Given the description of an element on the screen output the (x, y) to click on. 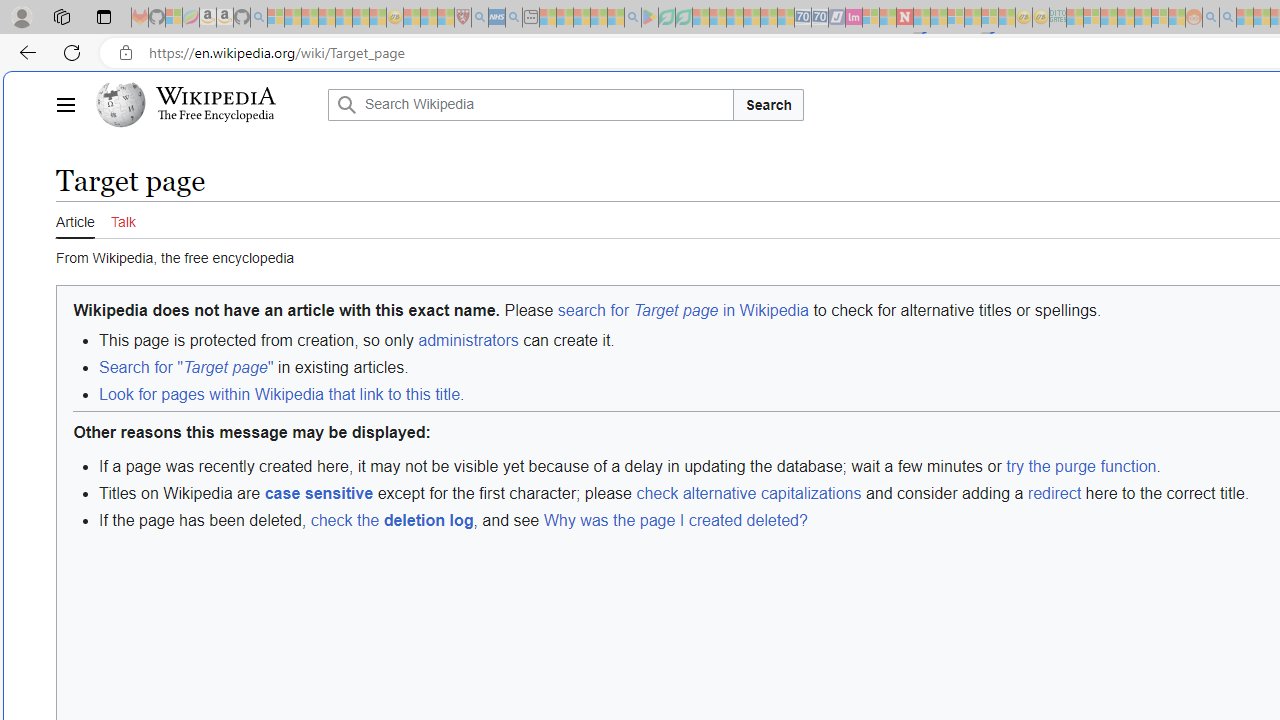
New tab - Sleeping (530, 17)
Jobs - lastminute.com Investor Portal - Sleeping (853, 17)
Pets - MSN - Sleeping (598, 17)
case sensitive (318, 492)
check alternative capitalizations (748, 492)
Trusted Community Engagement and Contributions | Guidelines (921, 17)
utah sues federal government - Search - Sleeping (513, 17)
Cheap Hotels - Save70.com - Sleeping (819, 17)
Local - MSN - Sleeping (445, 17)
Wikipedia (216, 96)
